Given the description of an element on the screen output the (x, y) to click on. 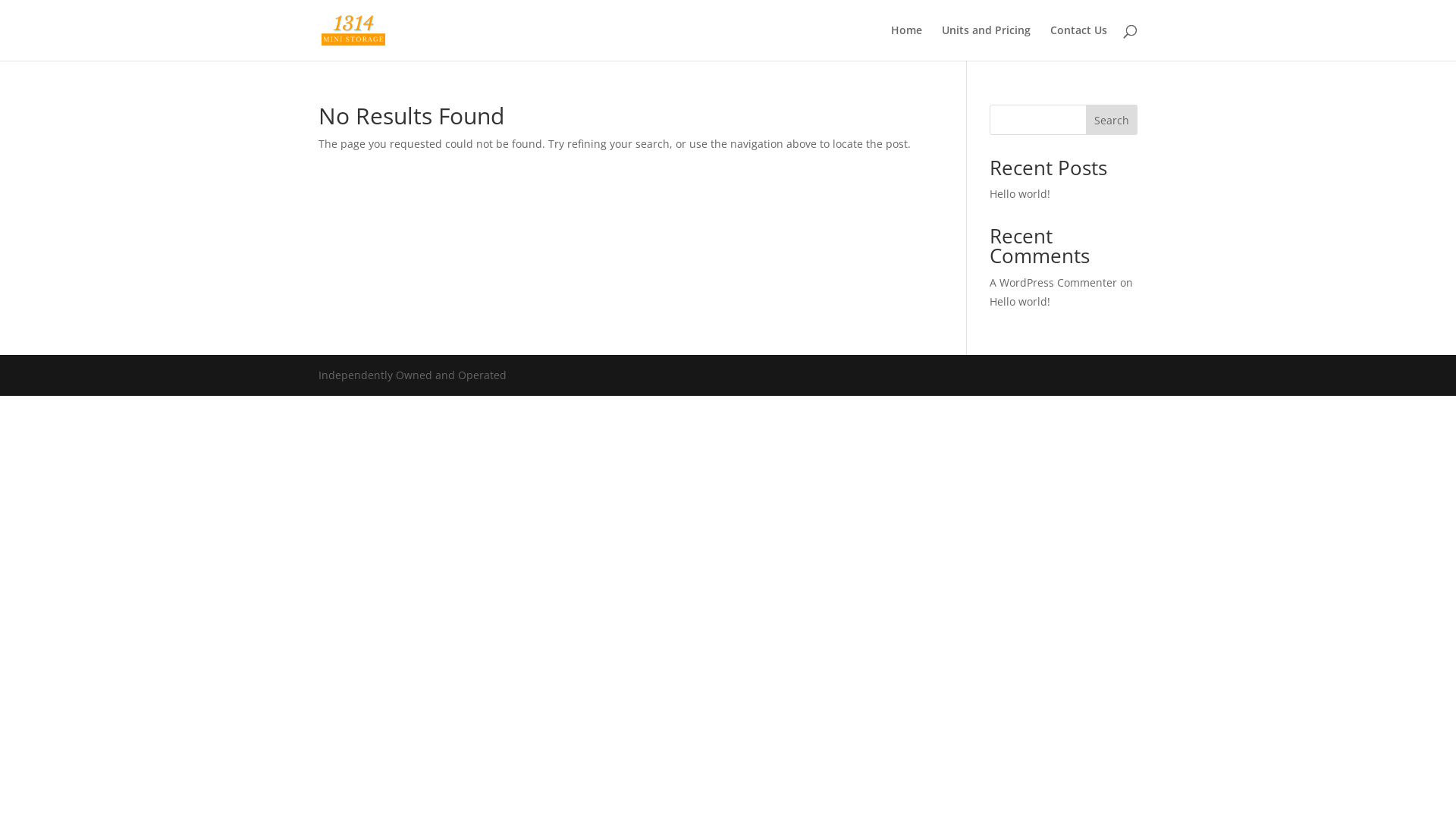
Home Element type: text (906, 42)
Contact Us Element type: text (1078, 42)
Hello world! Element type: text (1019, 193)
Hello world! Element type: text (1019, 301)
Units and Pricing Element type: text (985, 42)
A WordPress Commenter Element type: text (1053, 282)
Search Element type: text (1111, 119)
